Given the description of an element on the screen output the (x, y) to click on. 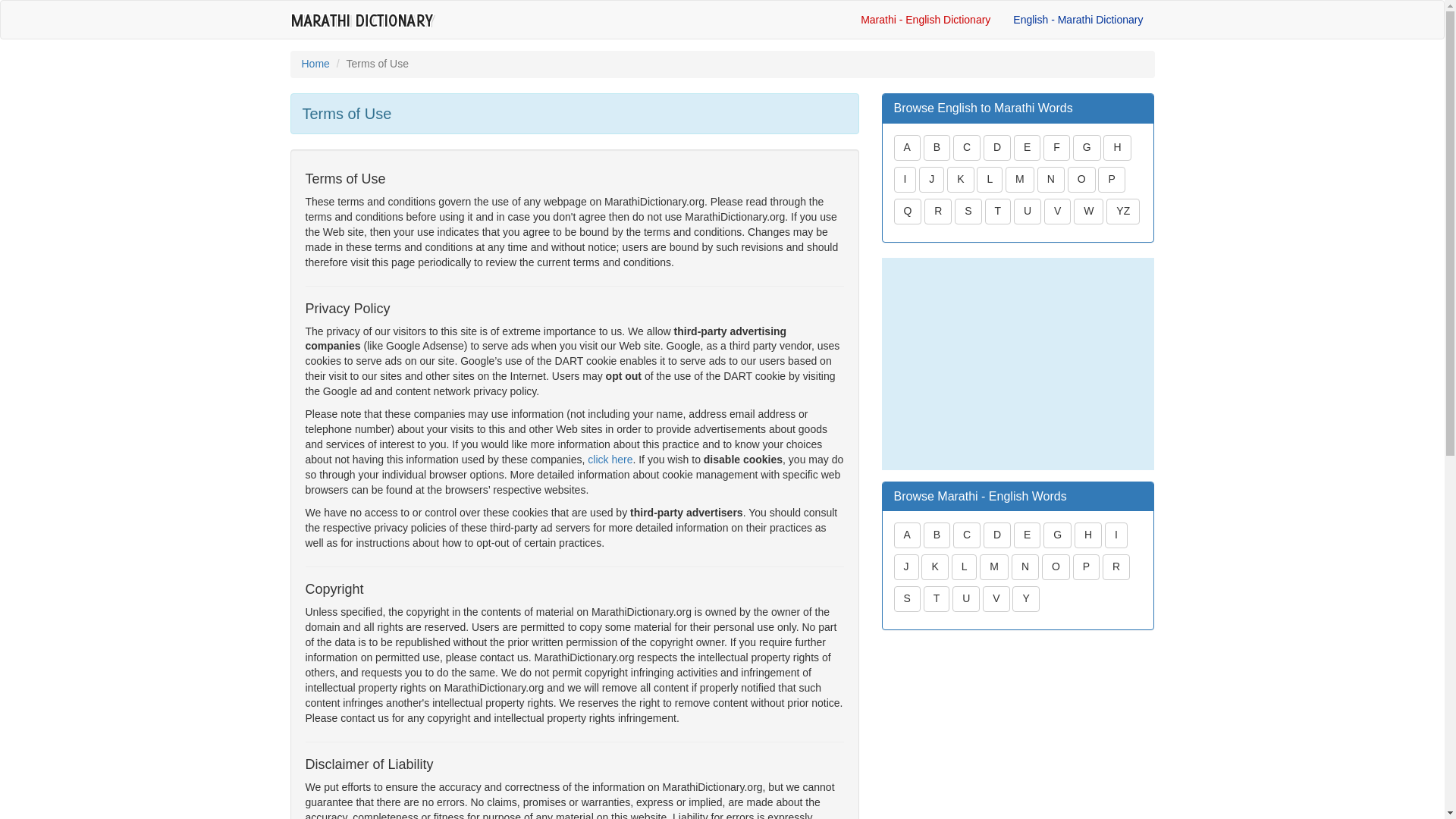
Home (315, 63)
J (930, 179)
A (906, 149)
click here (609, 459)
Marathi - English Dictionary (924, 19)
Advertisement (1017, 363)
I (904, 181)
P (1110, 179)
G (1086, 147)
E (1027, 149)
J (930, 181)
G (1086, 149)
M (1019, 179)
D (997, 147)
F (1056, 147)
